Given the description of an element on the screen output the (x, y) to click on. 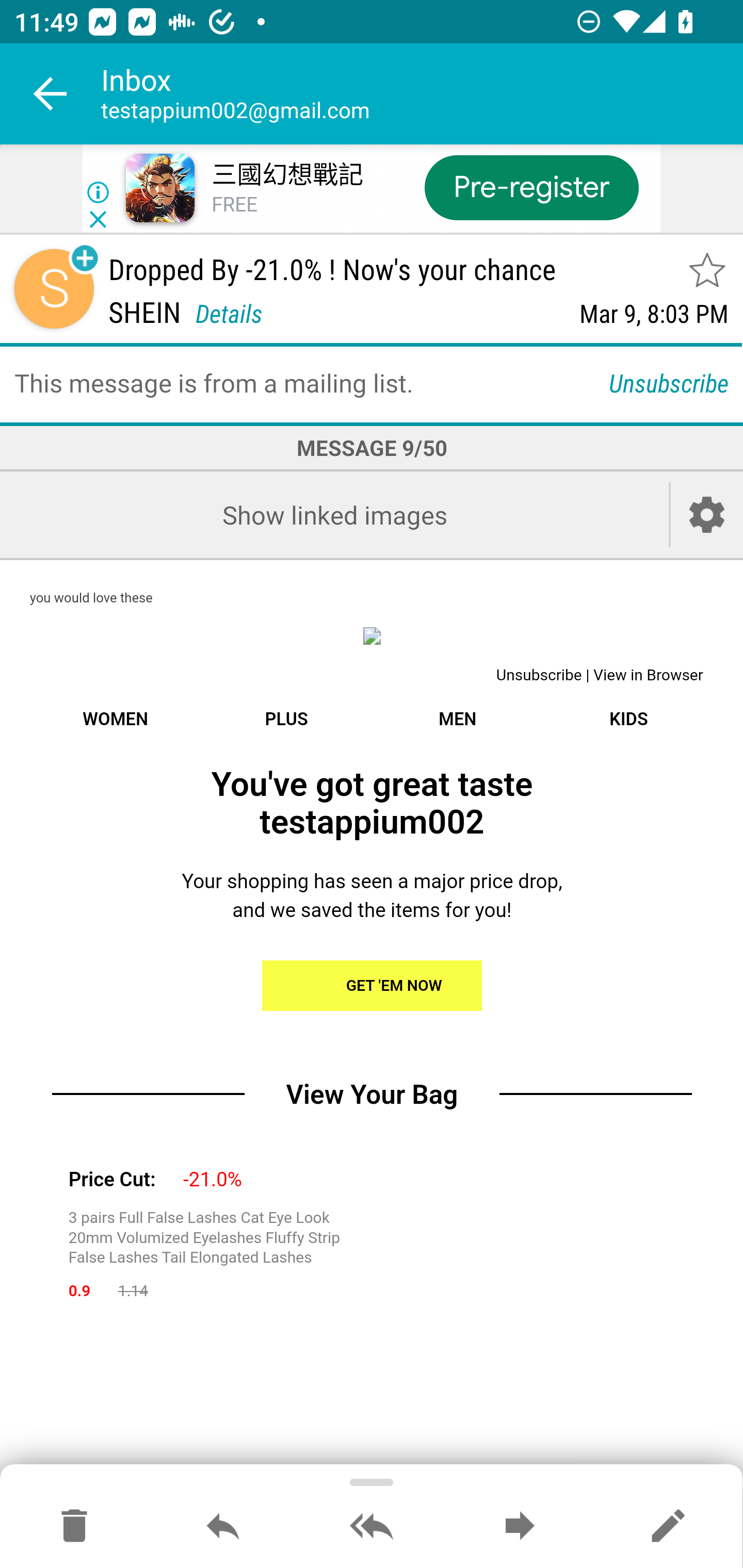
Navigate up (50, 93)
Inbox testappium002@gmail.com (422, 93)
Pre-register (530, 187)
三國幻想戰記 (287, 175)
FREE (234, 204)
Sender contact button (53, 289)
Unsubscribe (668, 382)
Show linked images (334, 514)
Account setup (706, 514)
you would love these (90, 598)
shein (371, 635)
Unsubscribe (538, 675)
View in Browser (648, 675)
WOMEN (114, 718)
PLUS (285, 718)
MEN (456, 718)
KIDS (627, 718)
Price Cut: (111, 1180)
-21.0% (212, 1180)
0.9 (79, 1291)
1.14 (133, 1291)
Move to Deleted (74, 1527)
Reply (222, 1527)
Reply all (371, 1527)
Forward (519, 1527)
Reply as new (667, 1527)
